Given the description of an element on the screen output the (x, y) to click on. 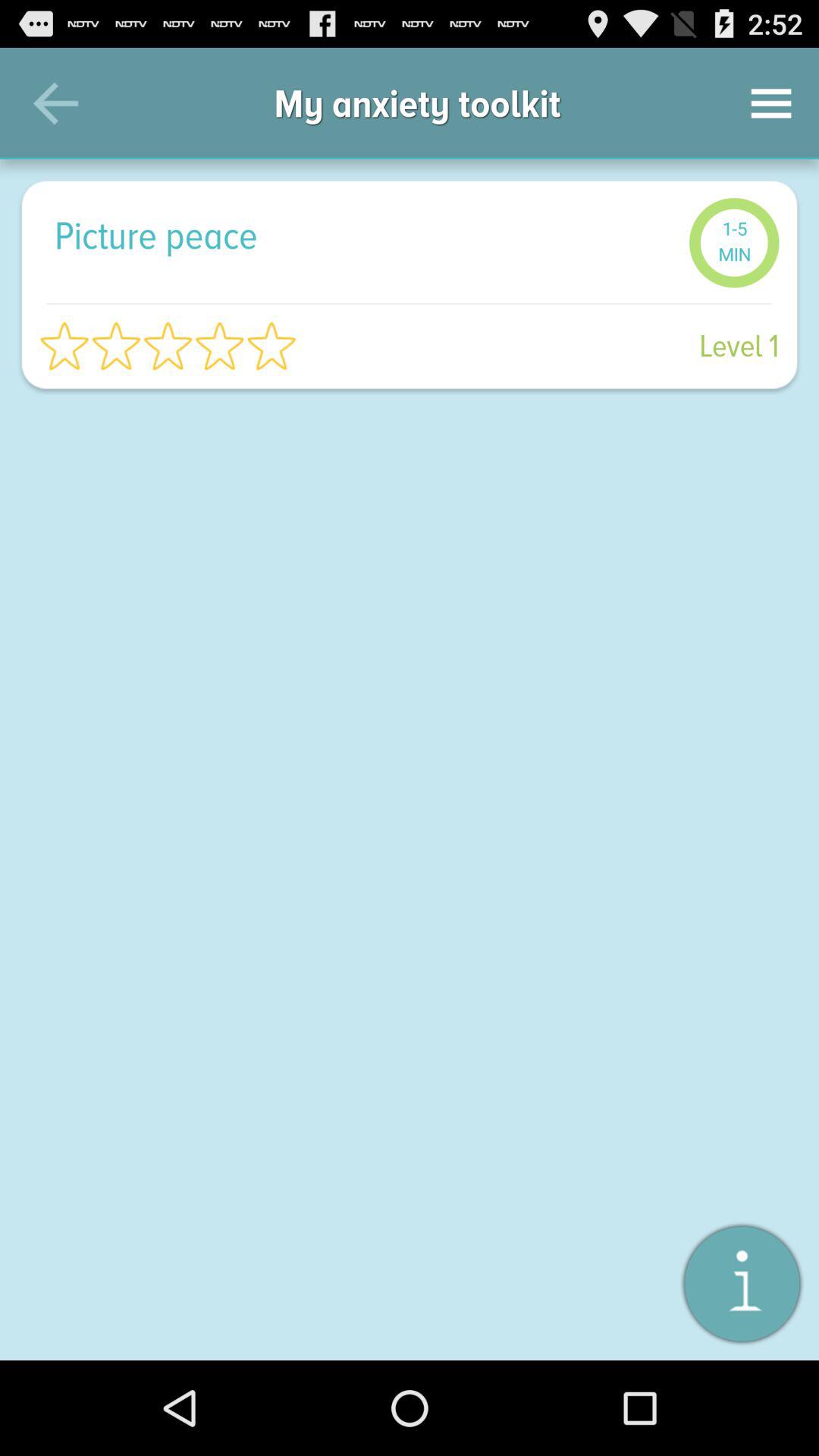
tap item to the left of level 1 item (167, 345)
